Given the description of an element on the screen output the (x, y) to click on. 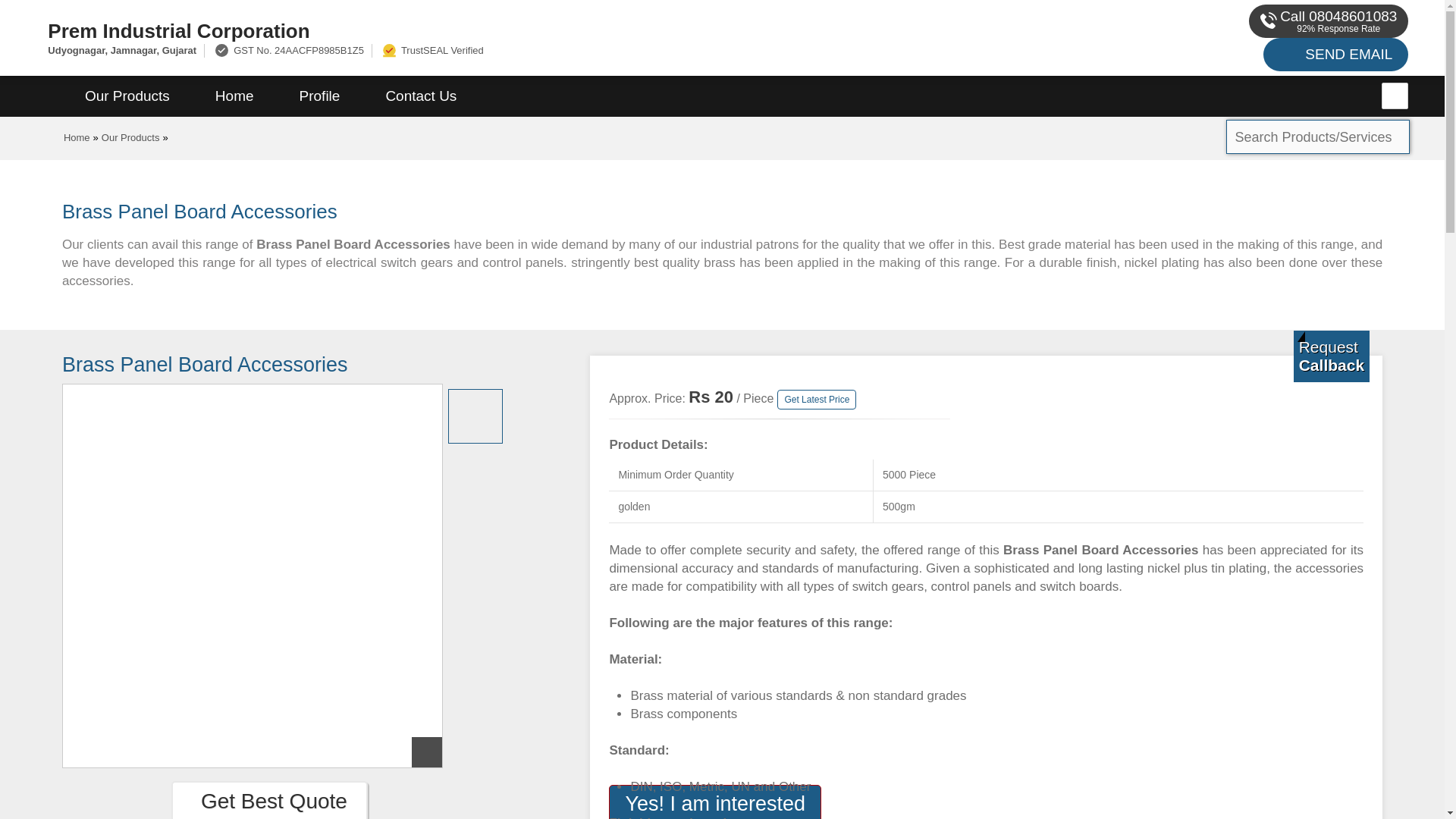
Get a Call from us (1332, 356)
Our Products (127, 96)
Prem Industrial Corporation (485, 31)
Profile (319, 96)
Home (234, 96)
